Given the description of an element on the screen output the (x, y) to click on. 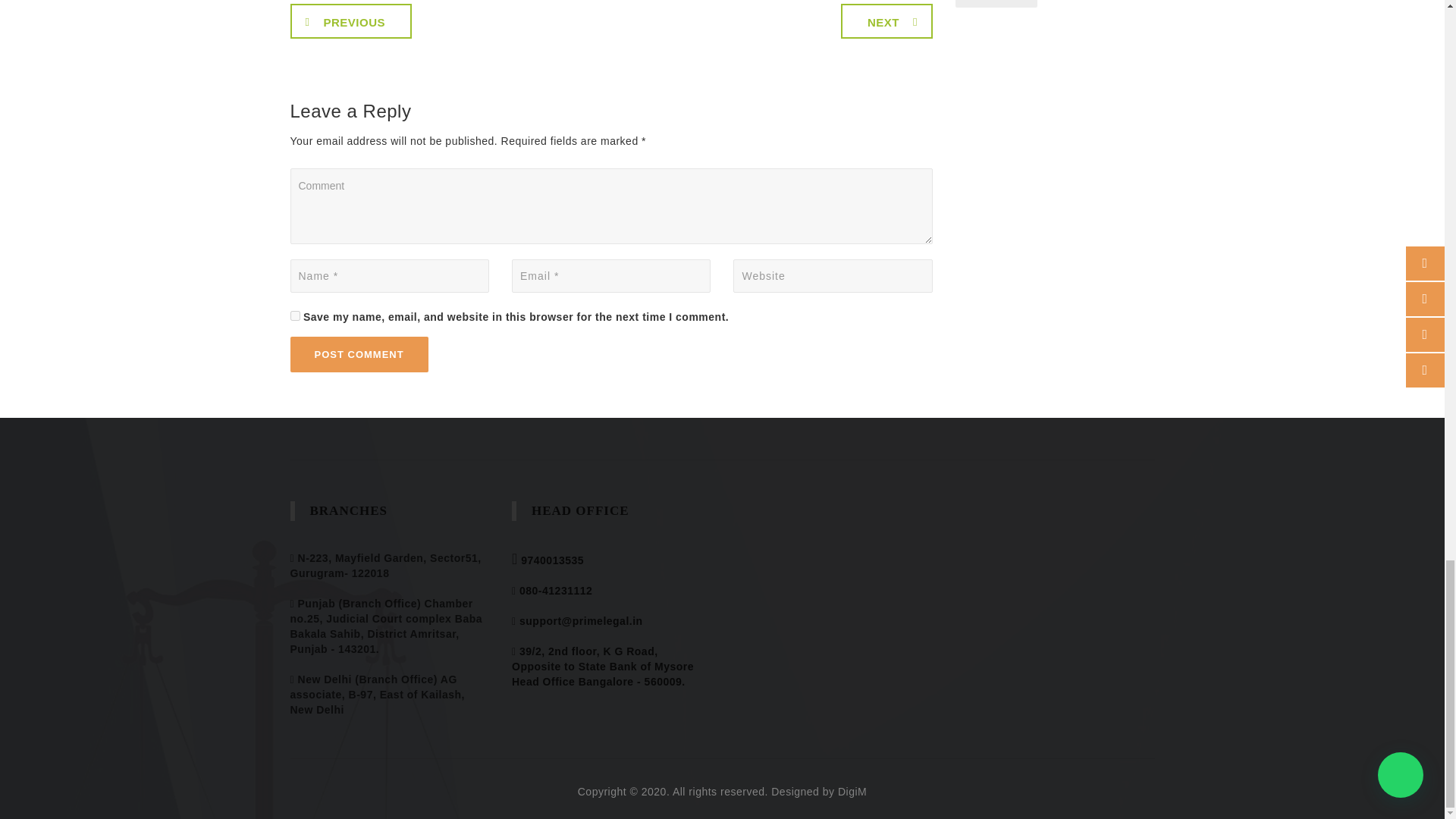
Post Comment (358, 354)
PREVIOUS (350, 21)
yes (294, 316)
NEXT (887, 21)
Post Comment (358, 354)
